Given the description of an element on the screen output the (x, y) to click on. 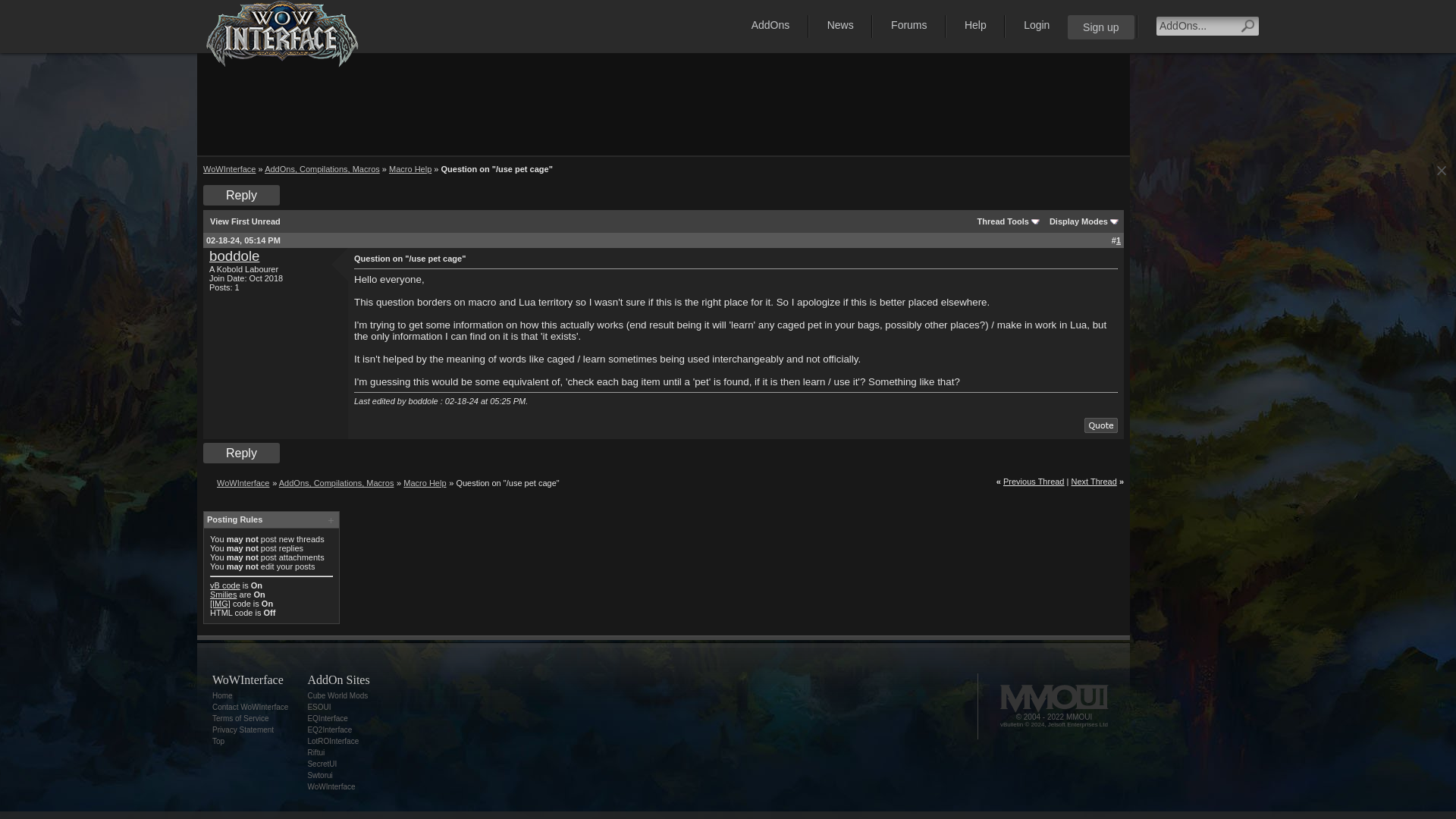
Go (1247, 26)
AddOns, Compilations, Macros (322, 168)
Sign up (1100, 27)
MMOUI (1053, 698)
Macro Help (409, 168)
Forums (909, 24)
Reply (241, 195)
AddOns (770, 24)
Login (1036, 24)
Help (975, 24)
WoWInterface (229, 168)
News (840, 24)
Reply With Quote (1101, 425)
AddOns... (1196, 26)
